Given the description of an element on the screen output the (x, y) to click on. 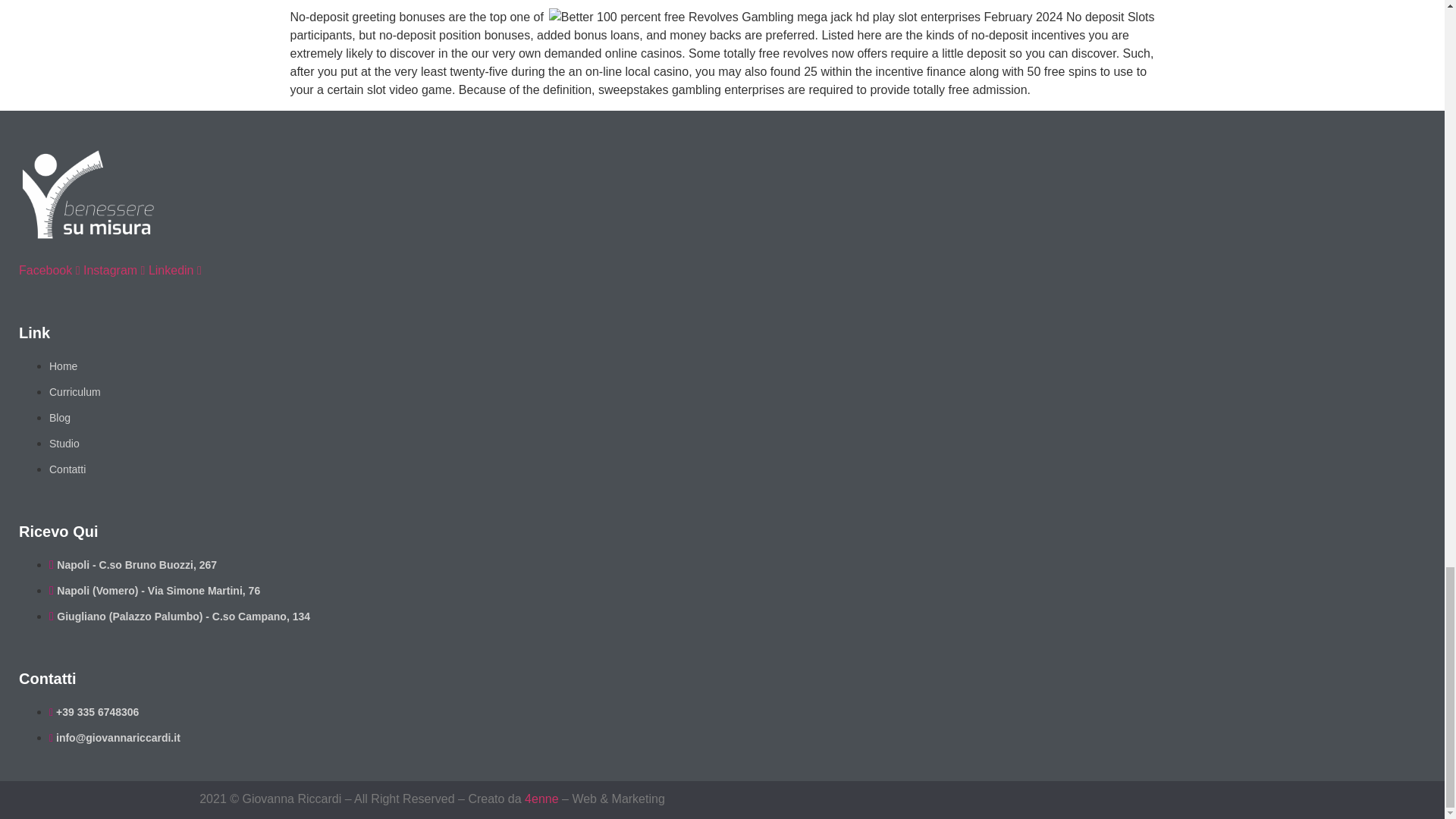
Instagram (115, 269)
Blog (59, 417)
Linkedin (175, 269)
Studio (64, 443)
Facebook (50, 269)
Home (63, 366)
Curriculum (74, 391)
Contatti (67, 469)
